Given the description of an element on the screen output the (x, y) to click on. 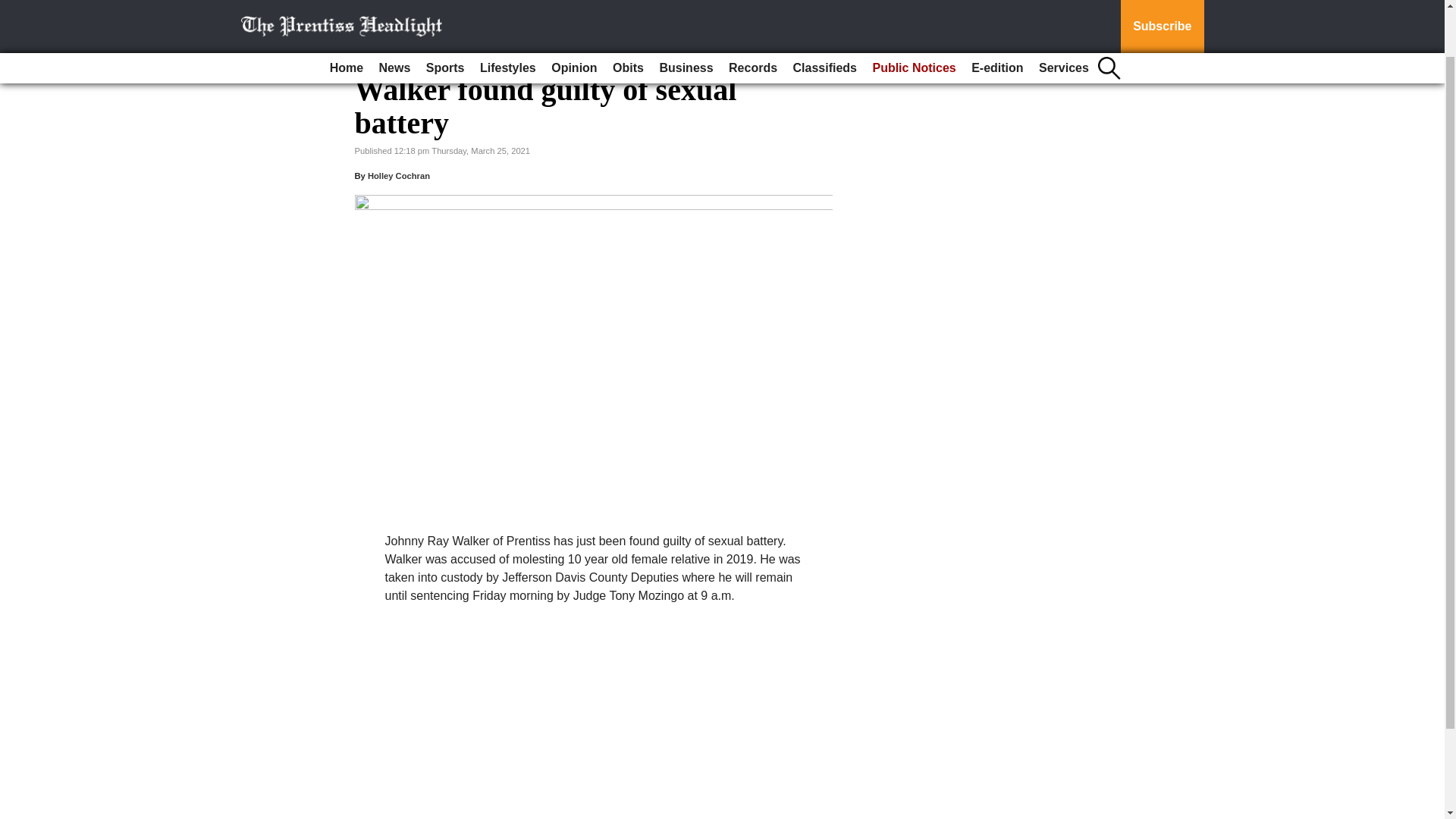
Obits (628, 13)
Lifestyles (507, 13)
E-edition (997, 13)
Public Notices (913, 13)
News (394, 13)
Opinion (573, 13)
Services (1063, 13)
Classifieds (825, 13)
Holley Cochran (398, 175)
Home (346, 13)
Records (752, 13)
Sports (445, 13)
Business (685, 13)
